Given the description of an element on the screen output the (x, y) to click on. 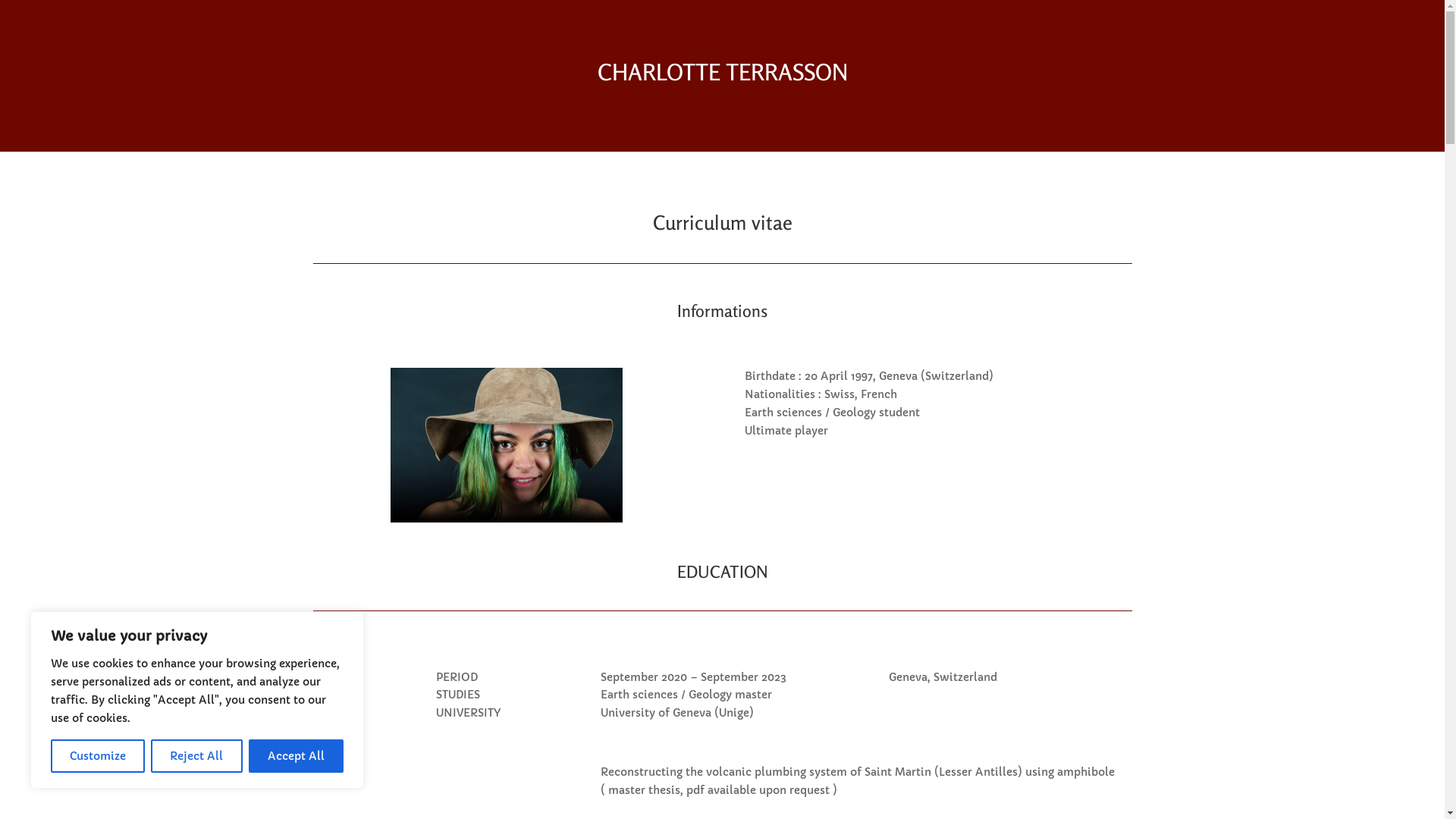
Accept All Element type: text (295, 755)
Reject All Element type: text (195, 755)
Customize Element type: text (97, 755)
